Given the description of an element on the screen output the (x, y) to click on. 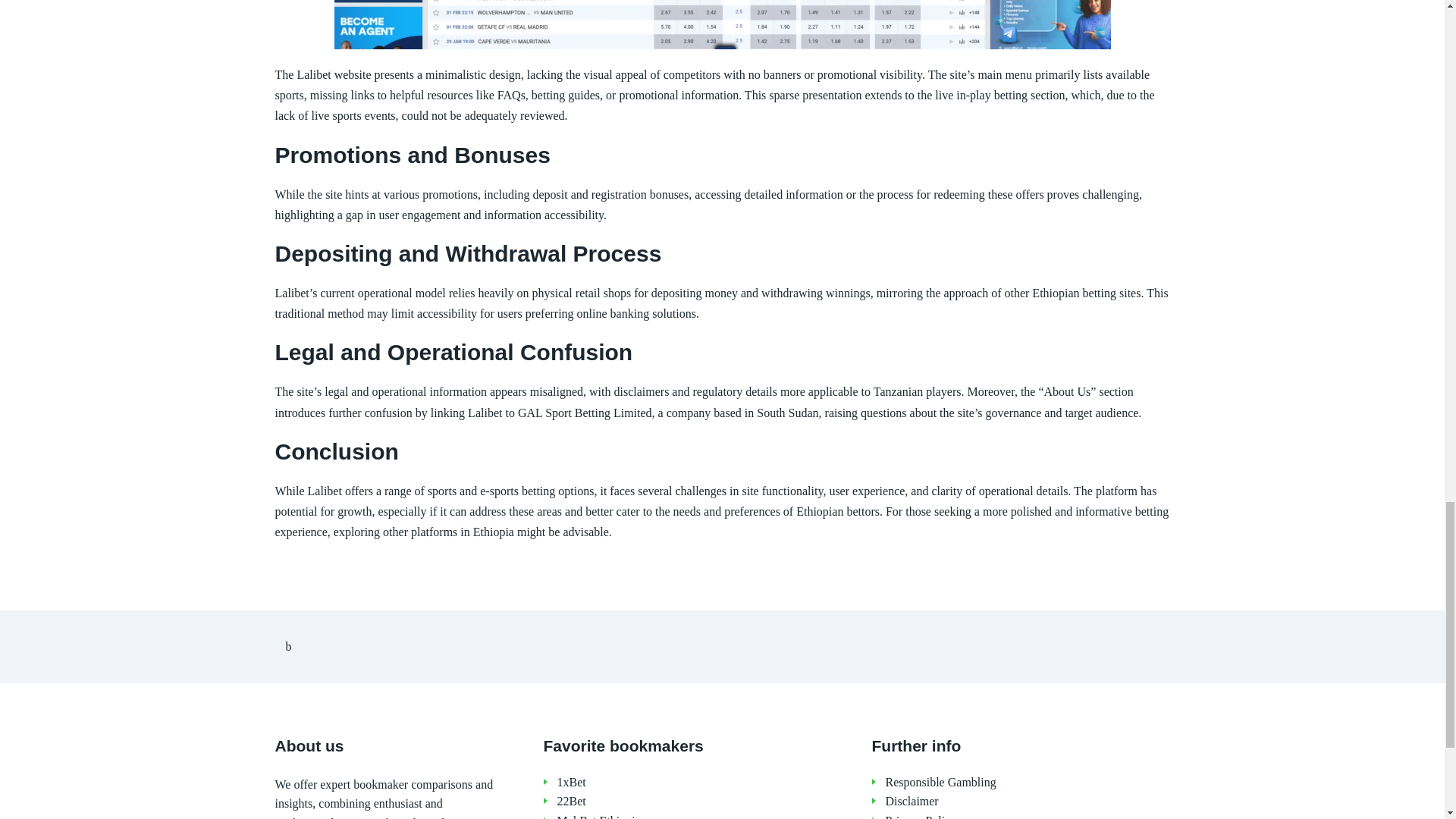
Privacy Policy (1027, 816)
1xBet (698, 782)
Mel Bet Ethiopia (698, 816)
22Bet (698, 801)
Disclaimer (1027, 801)
Responsible Gambling (1027, 782)
